Given the description of an element on the screen output the (x, y) to click on. 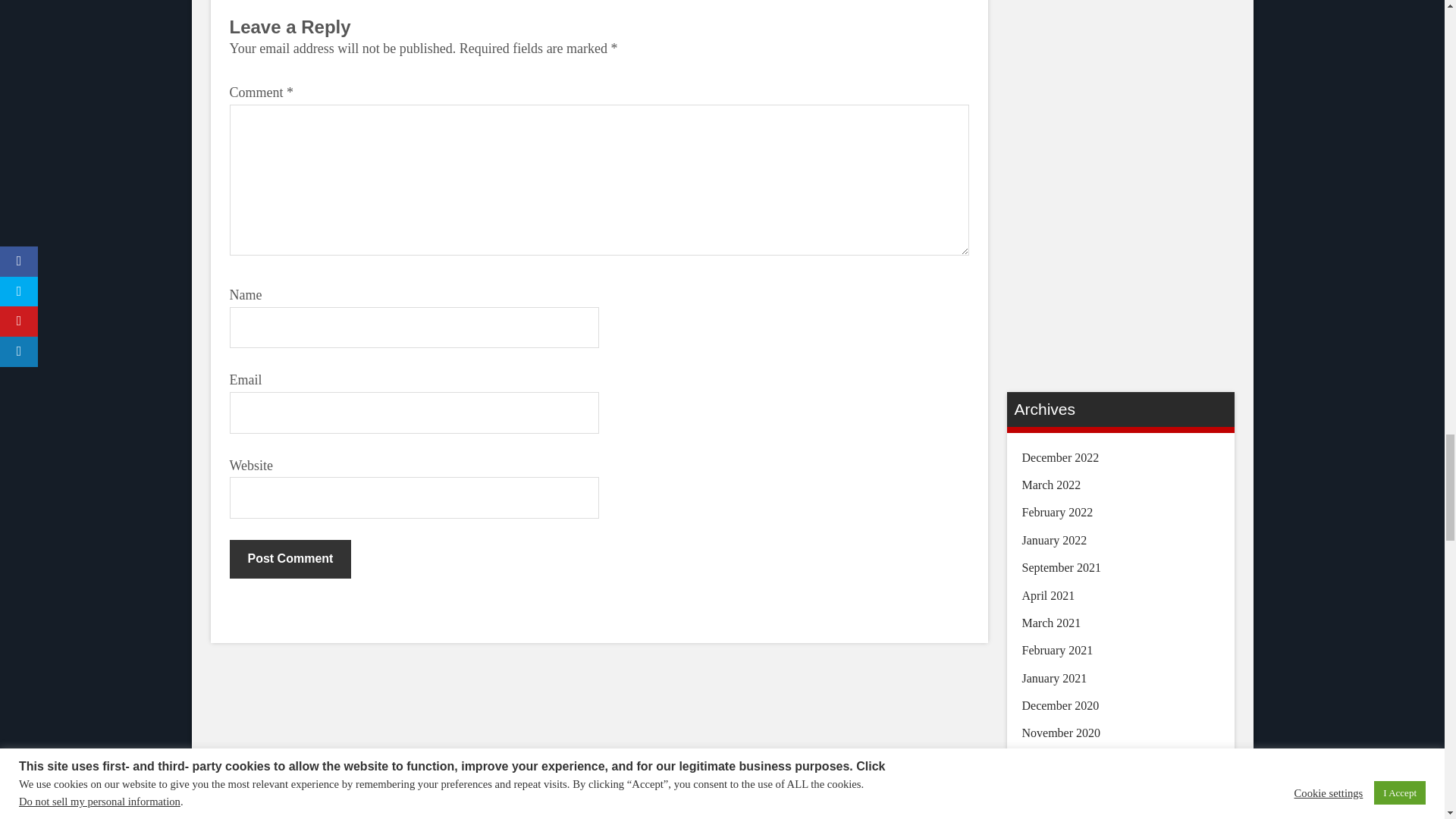
Post Comment (289, 558)
